Given the description of an element on the screen output the (x, y) to click on. 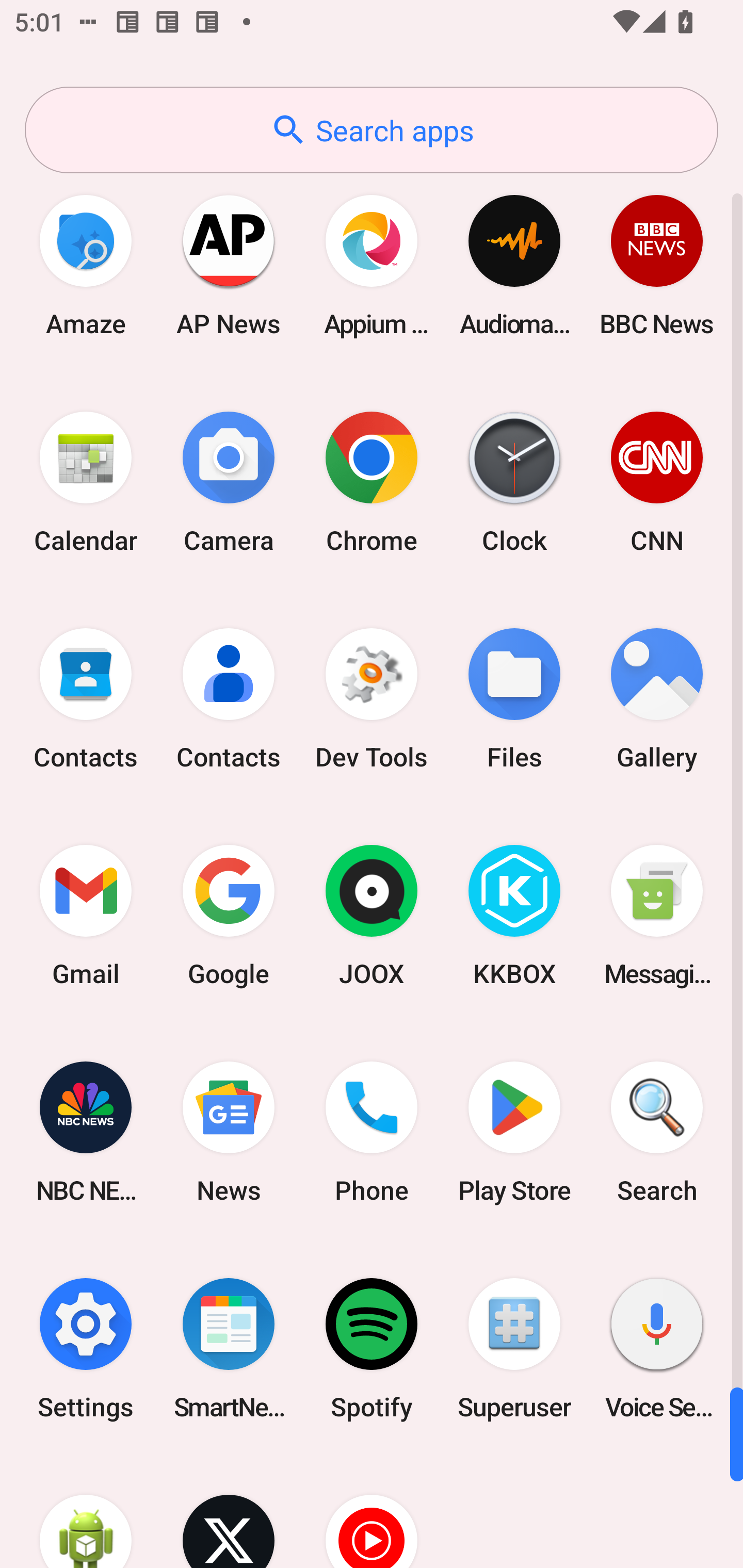
  Search apps (371, 130)
Amaze (85, 264)
AP News (228, 264)
Appium Settings (371, 264)
Audio­mack (514, 264)
BBC News (656, 264)
Calendar (85, 482)
Camera (228, 482)
Chrome (371, 482)
Clock (514, 482)
CNN (656, 482)
Contacts (85, 699)
Contacts (228, 699)
Dev Tools (371, 699)
Files (514, 699)
Gallery (656, 699)
Gmail (85, 915)
Google (228, 915)
JOOX (371, 915)
KKBOX (514, 915)
Messaging (656, 915)
NBC NEWS (85, 1131)
News (228, 1131)
Phone (371, 1131)
Play Store (514, 1131)
Search (656, 1131)
Settings (85, 1348)
SmartNews (228, 1348)
Spotify (371, 1348)
Superuser (514, 1348)
Voice Search (656, 1348)
WebView Browser Tester (85, 1512)
X (228, 1512)
YT Music (371, 1512)
